Given the description of an element on the screen output the (x, y) to click on. 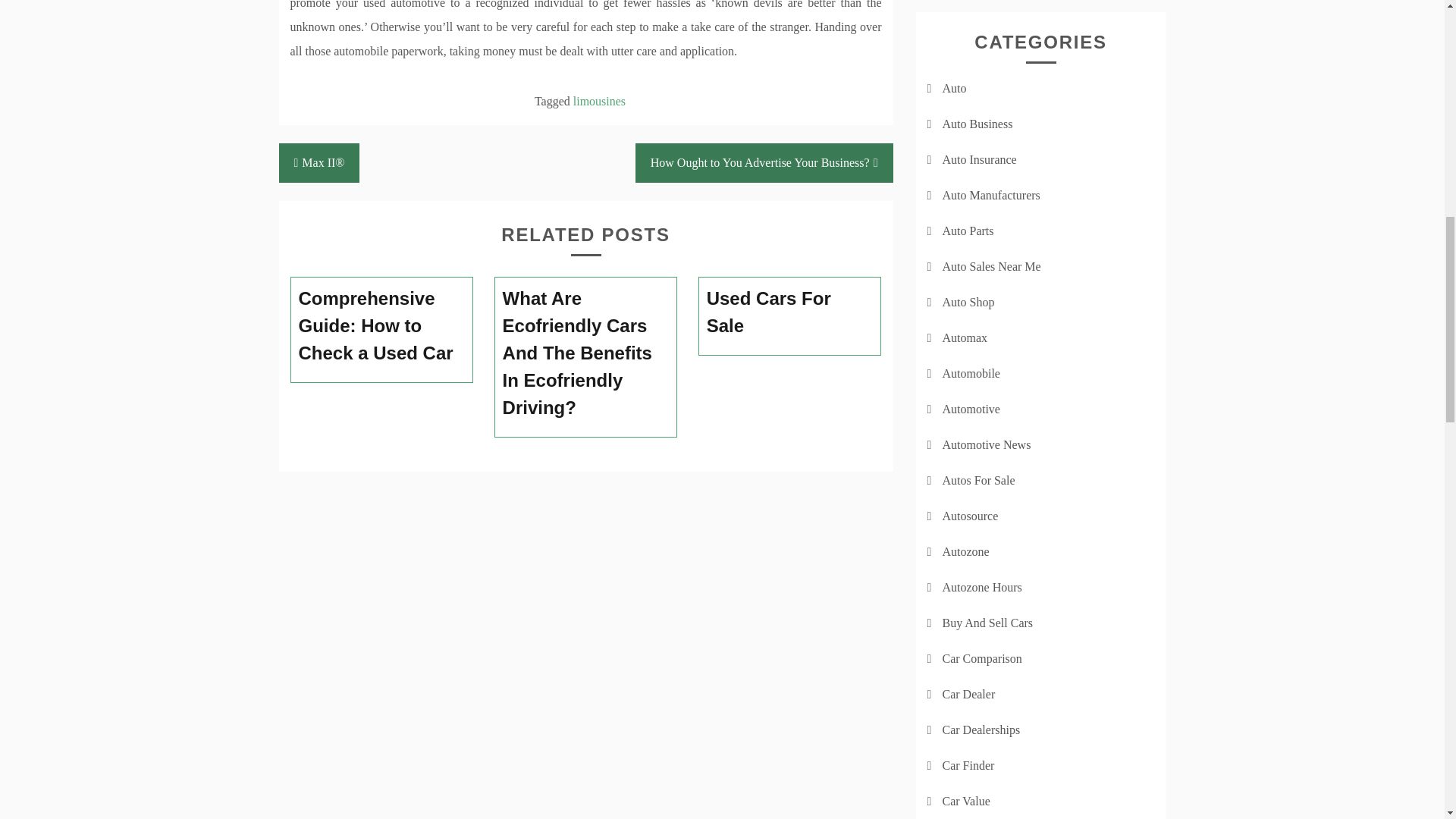
Auto Parts (967, 230)
limousines (599, 101)
Auto Sales Near Me (991, 266)
Auto Manufacturers (990, 195)
Auto (954, 88)
How Ought to You Advertise Your Business? (763, 162)
Auto Business (976, 123)
Used Cars For Sale (789, 312)
Auto Insurance (979, 159)
Comprehensive Guide: How to Check a Used Car (381, 325)
